Given the description of an element on the screen output the (x, y) to click on. 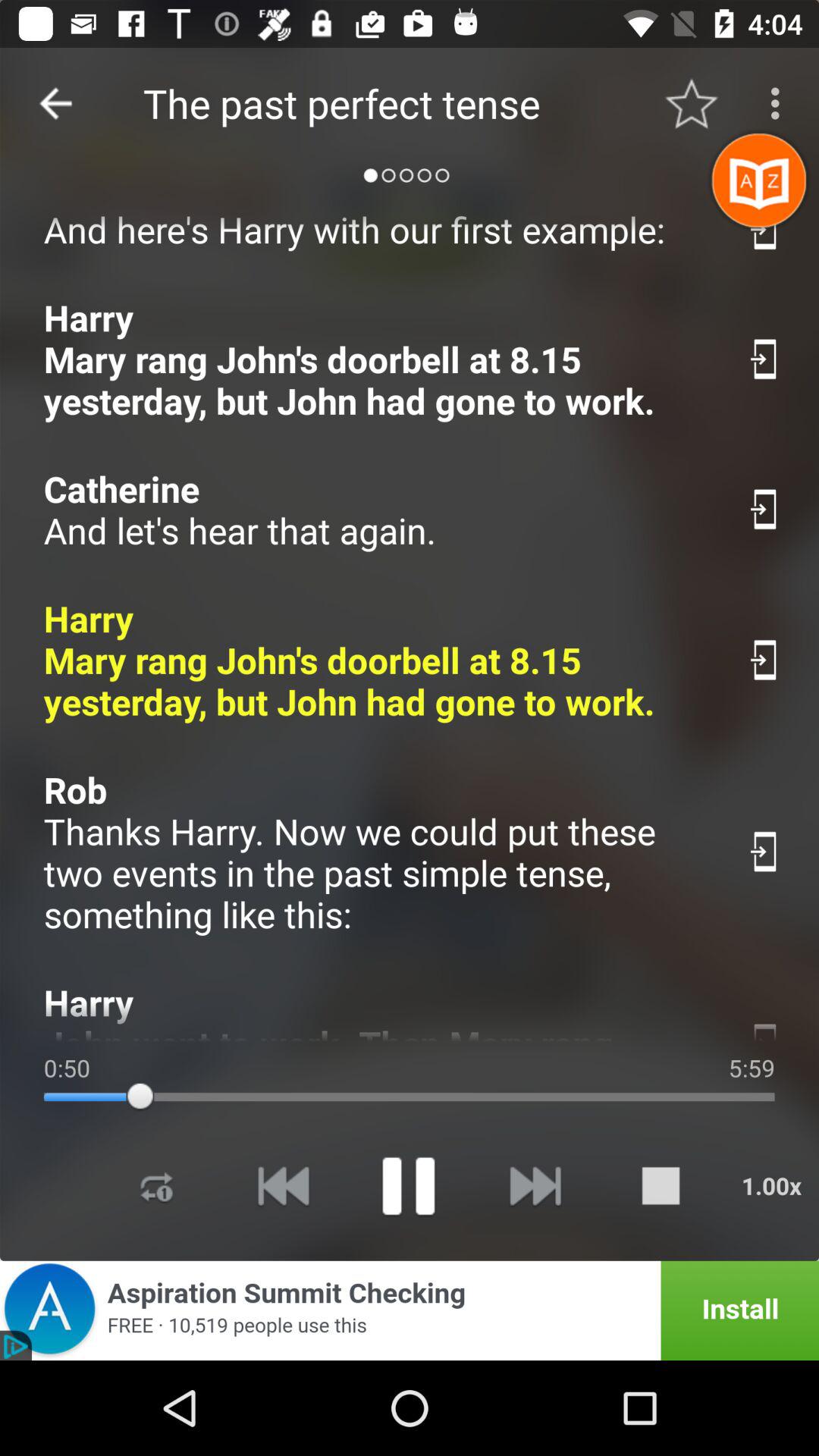
forward option moves to next song (534, 1185)
